Given the description of an element on the screen output the (x, y) to click on. 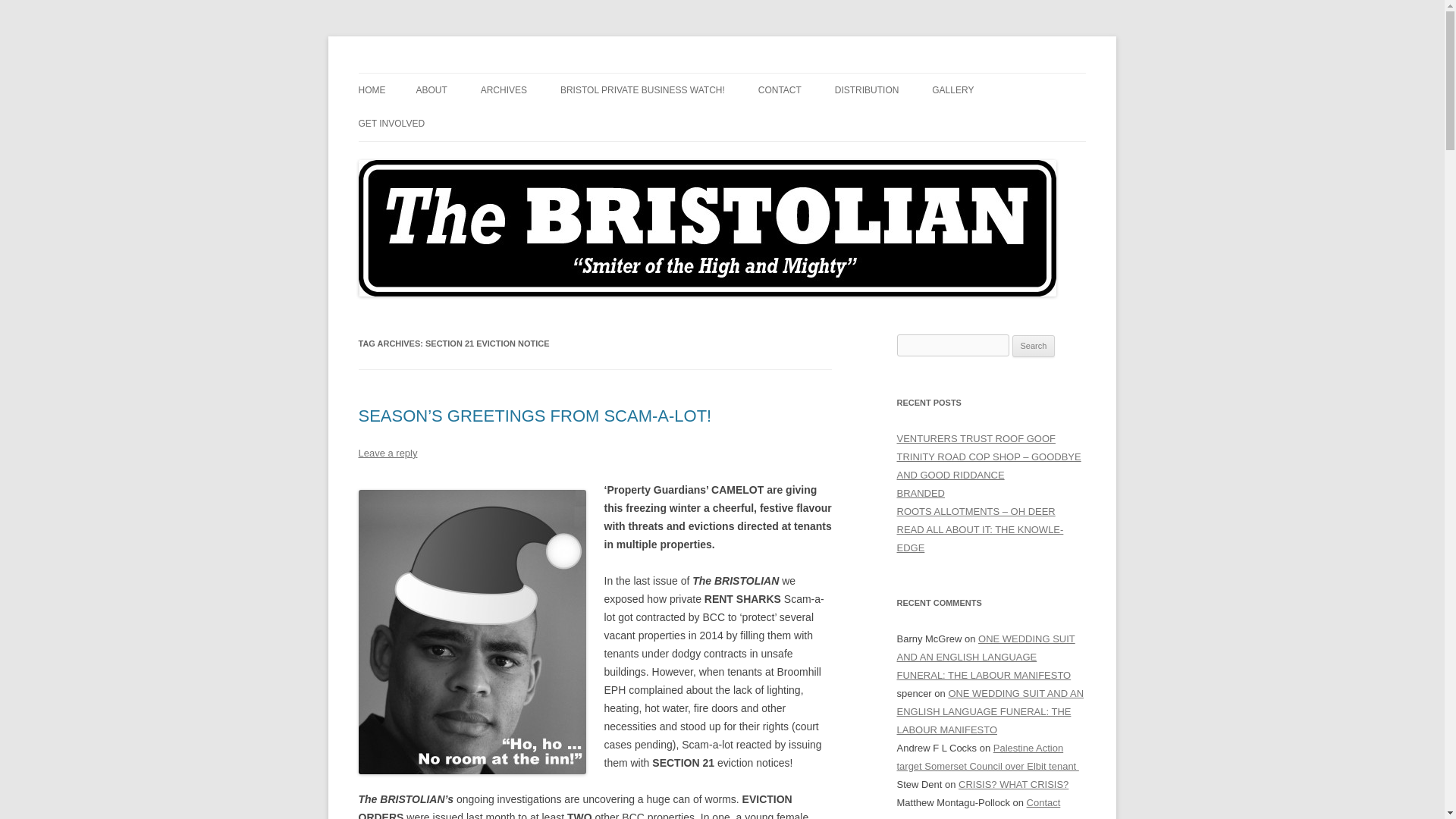
ARCHIVES (503, 90)
GET INVOLVED (391, 123)
BRANDED (920, 492)
The BRISTOLIAN (438, 72)
Search (1033, 345)
DISTRIBUTION (866, 90)
GALLERY (952, 90)
Leave a reply (387, 452)
BRISTOL PRIVATE BUSINESS WATCH! (642, 90)
Contact (1043, 802)
ABOUT (430, 90)
READ ALL ABOUT IT: THE KNOWLE-EDGE (979, 538)
